Given the description of an element on the screen output the (x, y) to click on. 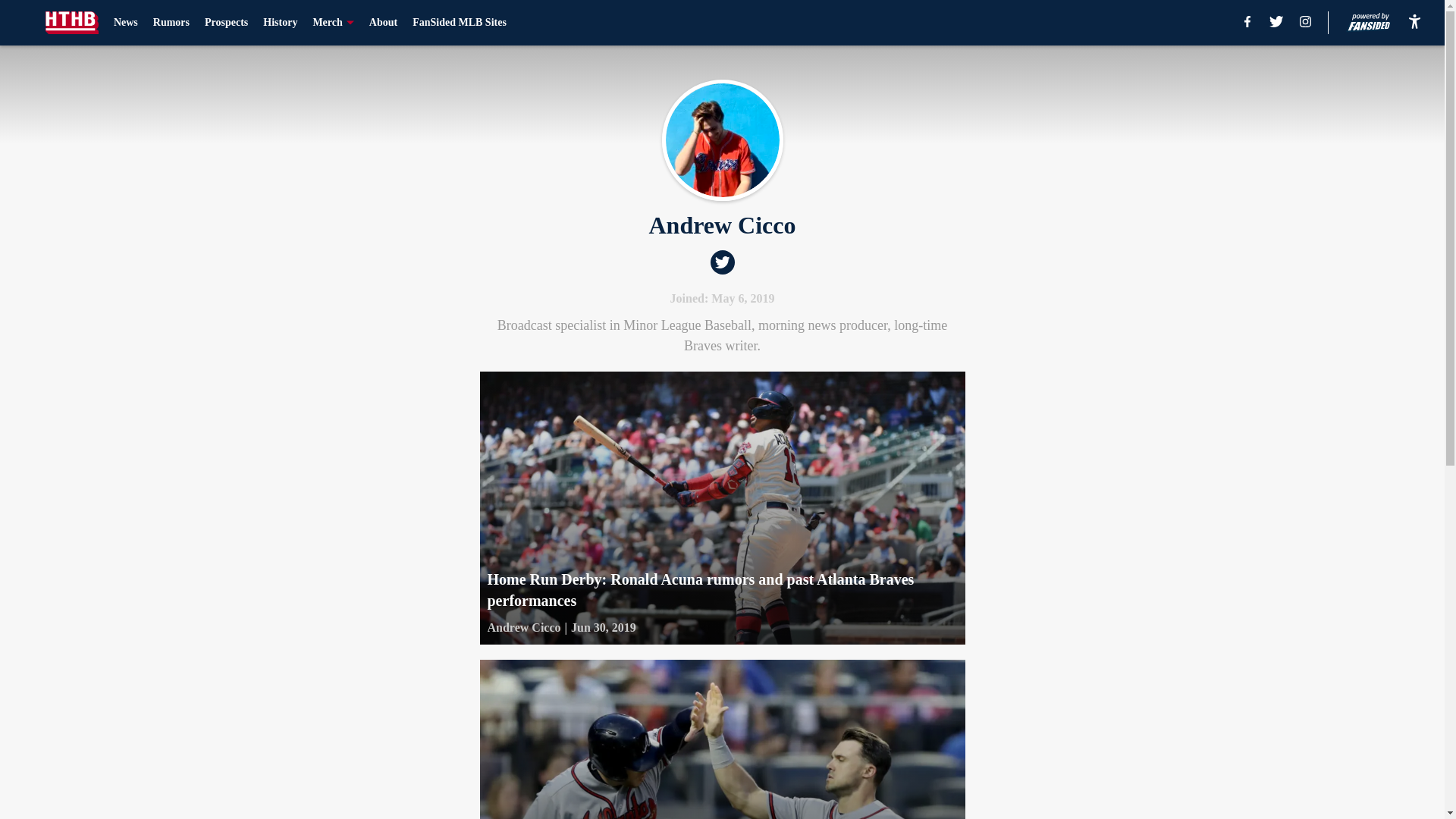
Rumors (170, 22)
acicco (721, 140)
FanSided MLB Sites (459, 22)
Prospects (226, 22)
History (280, 22)
News (125, 22)
Andrew Cicco (523, 628)
About (383, 22)
